Given the description of an element on the screen output the (x, y) to click on. 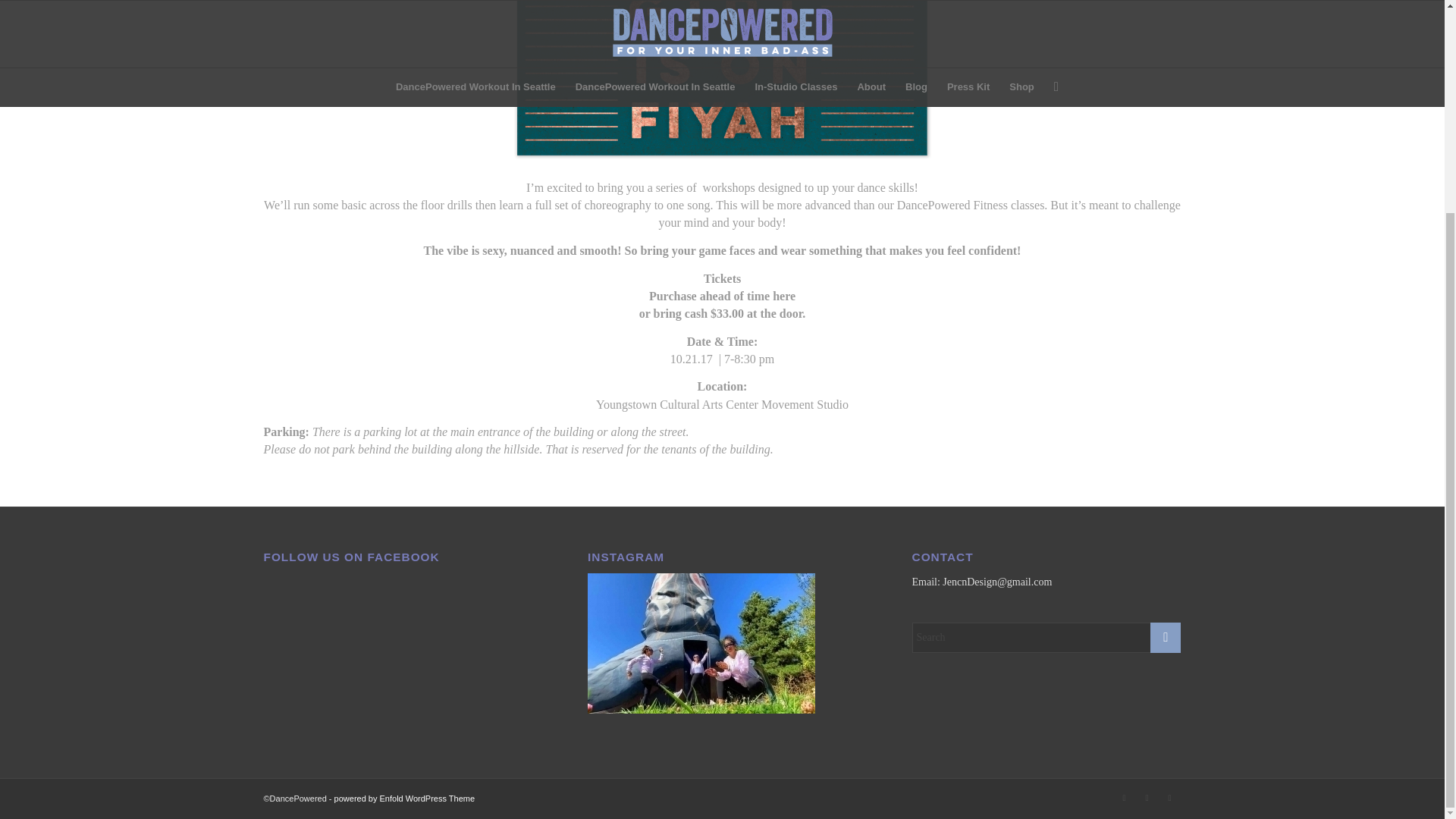
here (783, 295)
powered by Enfold WordPress Theme (404, 798)
Instagram (1124, 797)
Click to start search (1165, 637)
Facebook (1169, 797)
Youtube (1146, 797)
